Given the description of an element on the screen output the (x, y) to click on. 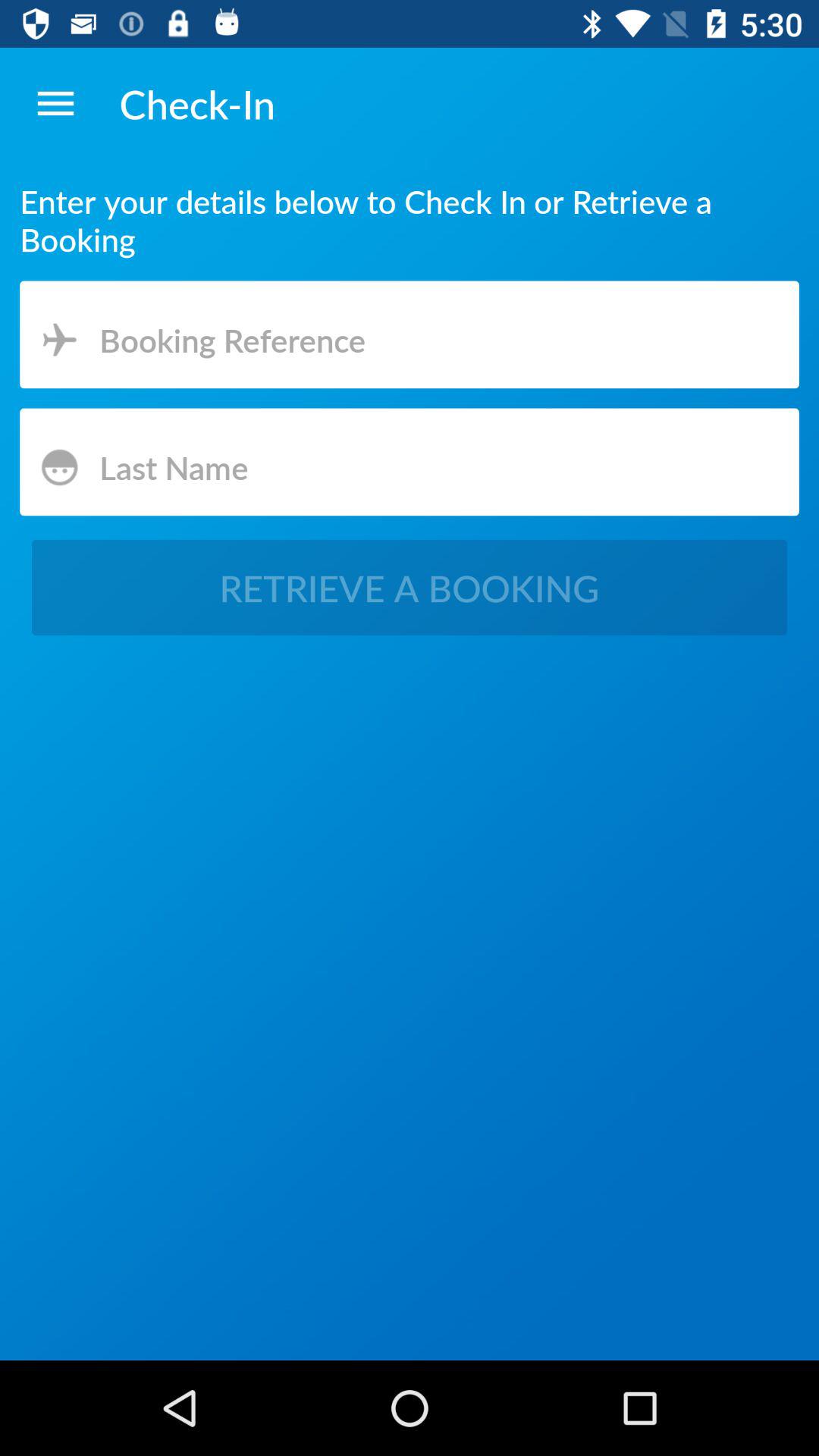
choose item to the left of the check-in app (55, 103)
